Given the description of an element on the screen output the (x, y) to click on. 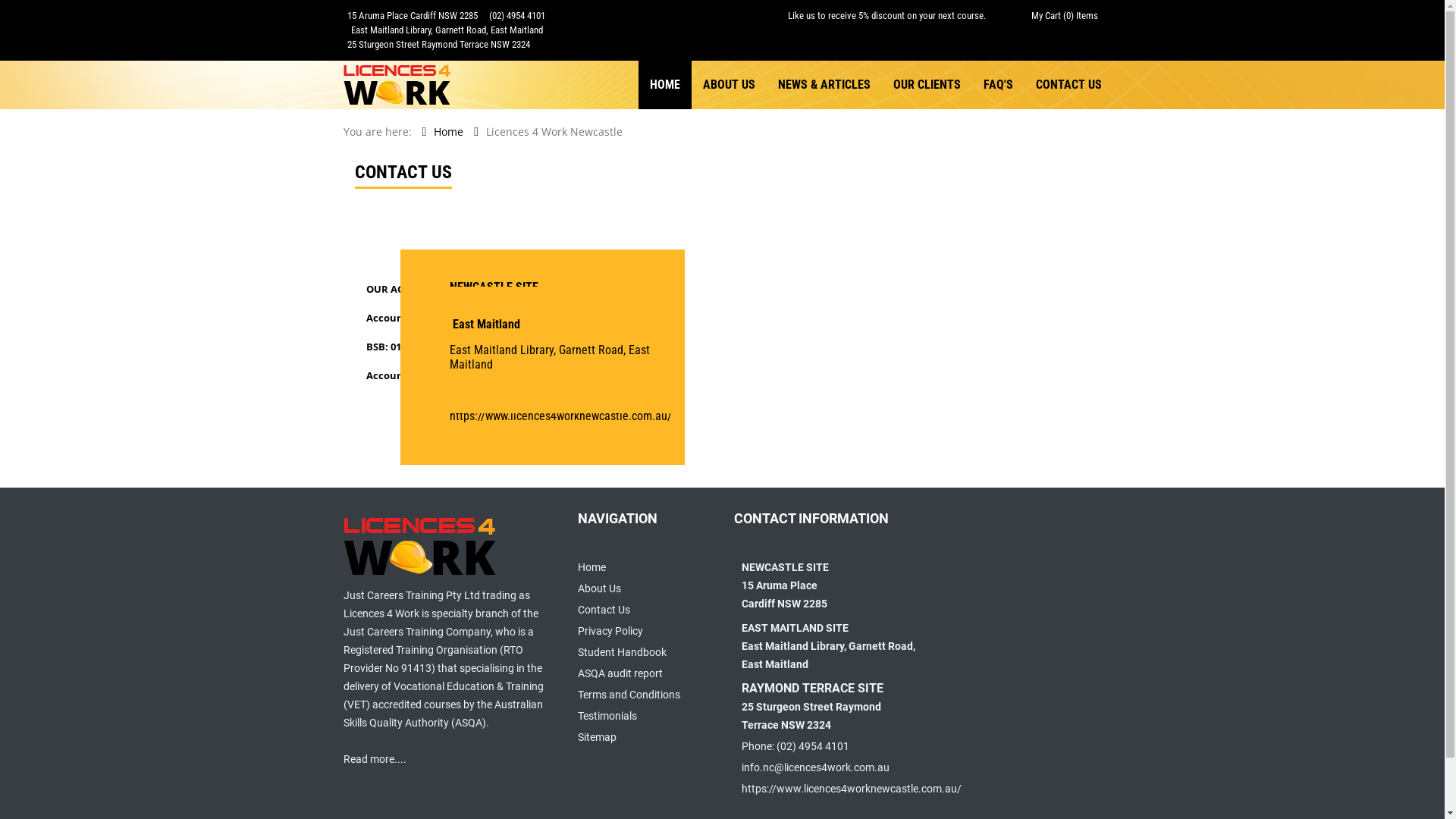
Read more.... Element type: text (373, 759)
info.nc@licences4work.com.au Element type: text (815, 767)
https://www.licences4worknewcastle.com.au/ Element type: text (851, 788)
(02) 4954 4101 Element type: text (515, 15)
HOME Element type: text (664, 84)
My Cart (0) Items Element type: text (1064, 15)
https://www.licences4worknewcastle.com.au/ Element type: text (559, 415)
Home Element type: text (591, 567)
Testimonials Element type: text (607, 715)
(02) 4954 4101 Element type: text (812, 746)
ASQA audit report Element type: text (619, 673)
CONTACT US Element type: text (1067, 84)
Student Handbook Element type: text (621, 652)
NEWS & ARTICLES Element type: text (823, 84)
FAQ'S Element type: text (998, 84)
Home Element type: text (448, 131)
Sitemap Element type: text (596, 737)
Privacy Policy Element type: text (610, 630)
ABOUT US Element type: text (728, 84)
OUR CLIENTS Element type: text (926, 84)
(02) 4954 4101 Element type: text (485, 338)
www.justtraining.com.au Element type: text (508, 389)
Terms and Conditions Element type: text (628, 694)
About Us Element type: text (599, 588)
ncbookings@licences4work.com.au Element type: text (534, 364)
Contact Us Element type: text (603, 609)
